Given the description of an element on the screen output the (x, y) to click on. 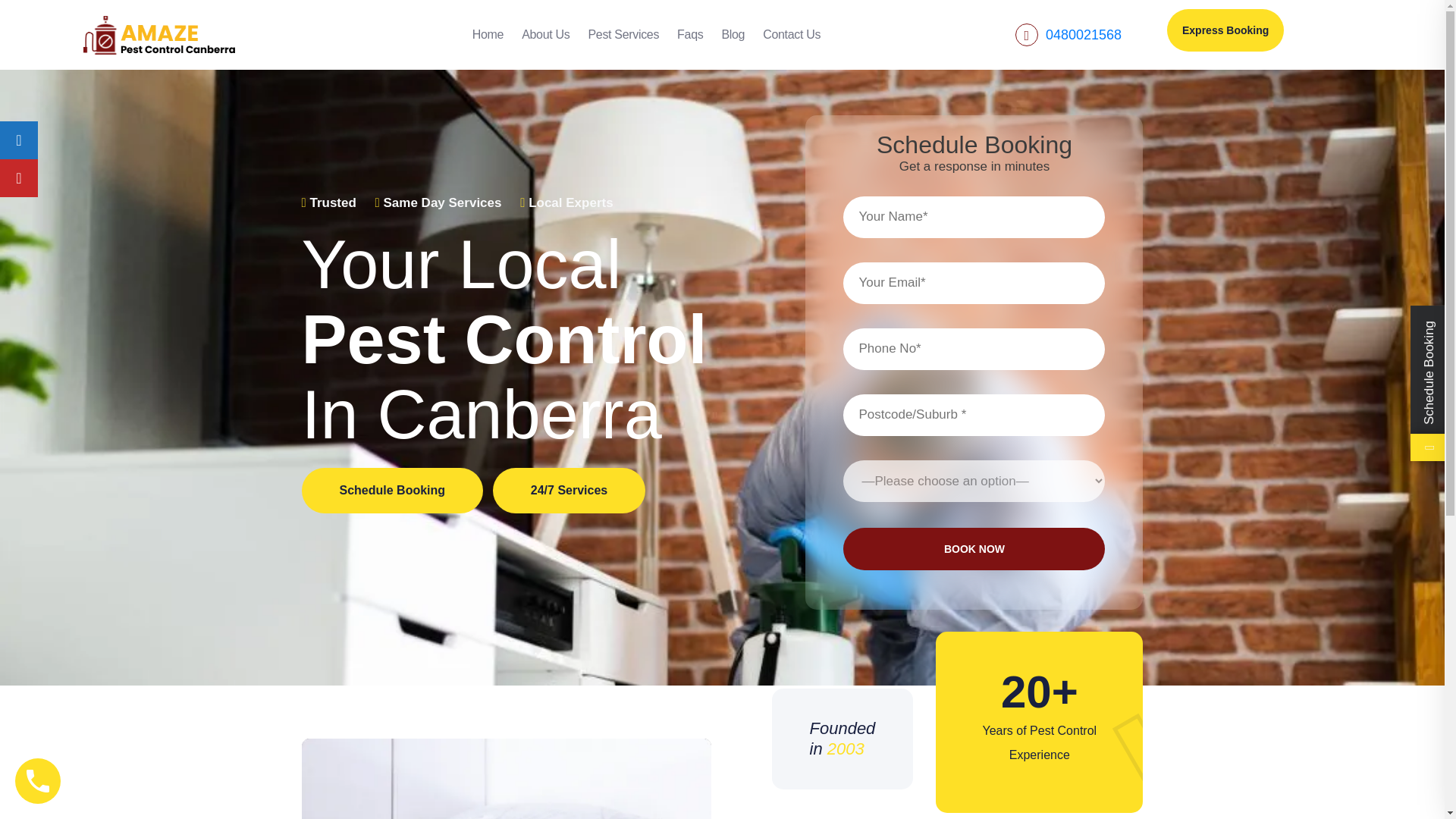
Express Booking (1225, 30)
Contact Us (791, 40)
Pest Services (623, 40)
0480021568 (1083, 34)
